Given the description of an element on the screen output the (x, y) to click on. 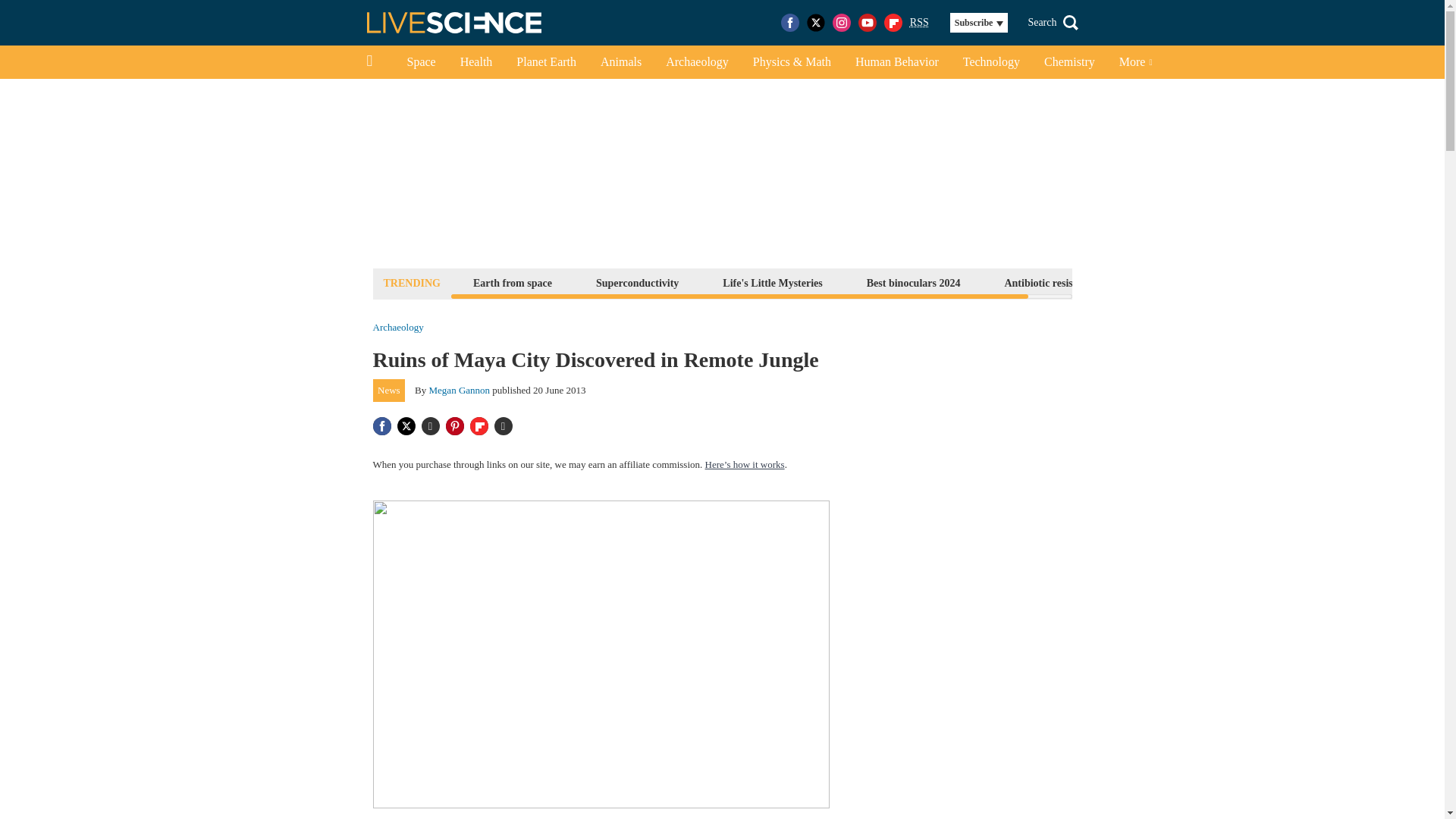
Space (420, 61)
News (389, 390)
Health (476, 61)
Really Simple Syndication (919, 21)
Superconductivity (637, 282)
Planet Earth (545, 61)
RSS (919, 22)
Best binoculars 2024 (913, 282)
Chemistry (1069, 61)
Archaeology (397, 327)
